Given the description of an element on the screen output the (x, y) to click on. 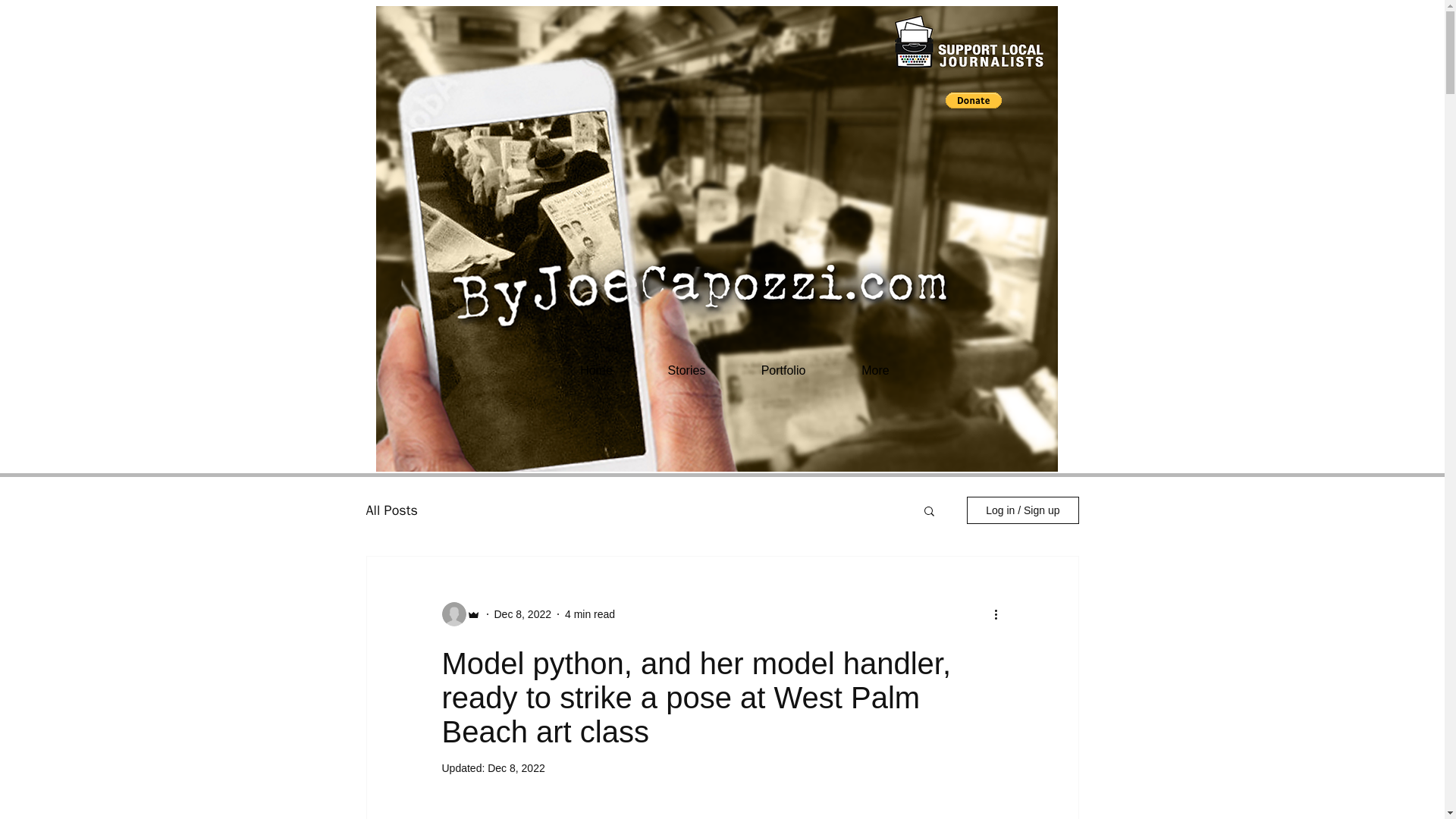
All Posts (390, 510)
Dec 8, 2022 (515, 767)
Dec 8, 2022 (523, 613)
Stories (686, 370)
Home (595, 370)
4 min read (589, 613)
Portfolio (782, 370)
